Given the description of an element on the screen output the (x, y) to click on. 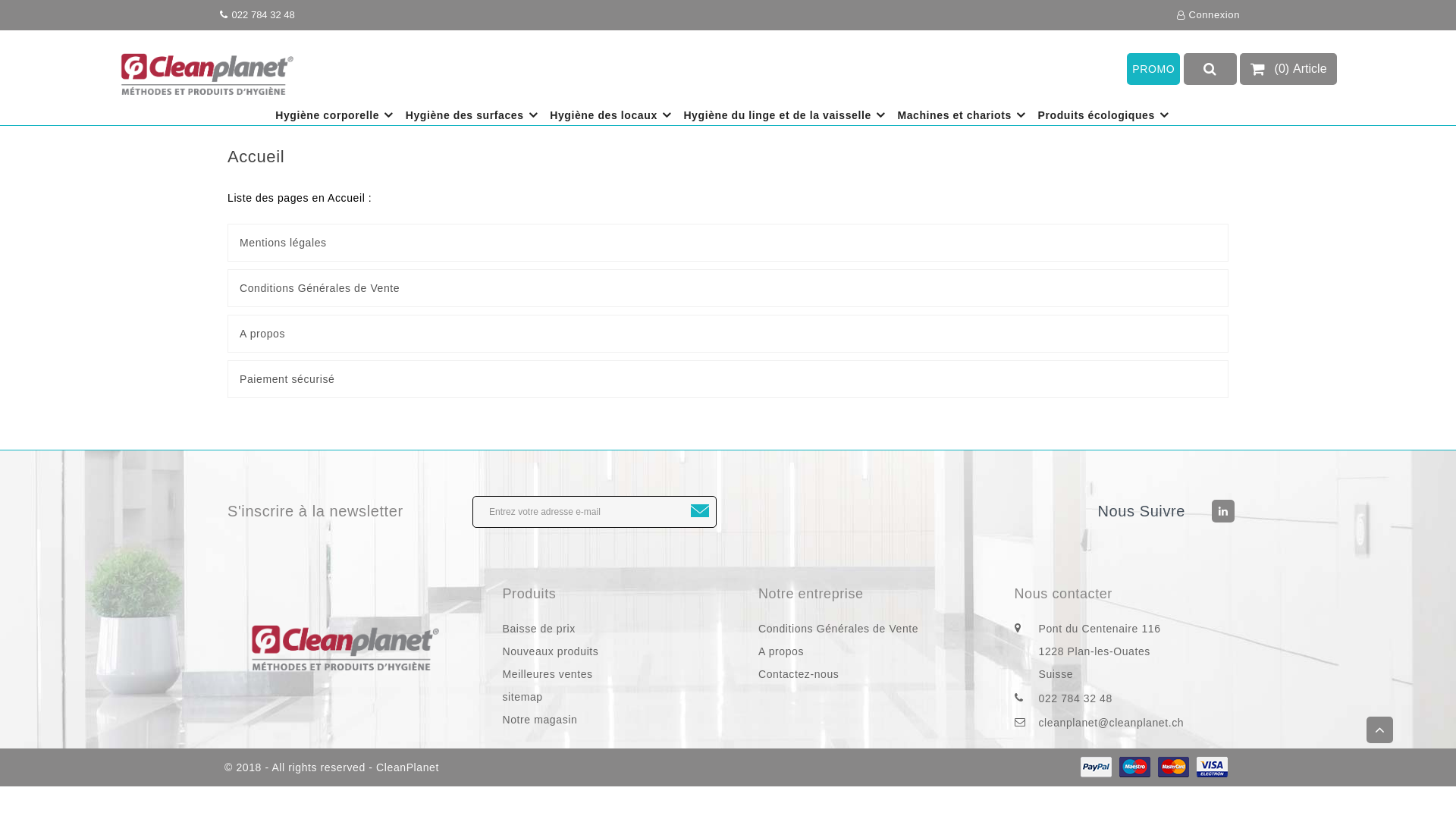
Nouveaux produits Element type: text (615, 650)
Notre magasin Element type: text (615, 718)
Machines et chariots Element type: text (963, 115)
Master Card Element type: hover (1173, 766)
cleanplanet@cleanplanet.ch Element type: text (1139, 721)
Visa Element type: hover (1211, 766)
A propos Element type: text (871, 650)
Meilleures ventes Element type: text (615, 673)
Accueil Element type: text (255, 156)
Baisse de prix Element type: text (615, 627)
PayPal Element type: hover (1095, 766)
(0)
Article Element type: text (1288, 68)
A propos Element type: text (727, 333)
sitemap Element type: text (615, 695)
Contactez-nous Element type: text (871, 673)
PROMO Element type: text (1152, 68)
Cleanplanet Element type: hover (344, 646)
Mastro Element type: hover (1134, 766)
